Given the description of an element on the screen output the (x, y) to click on. 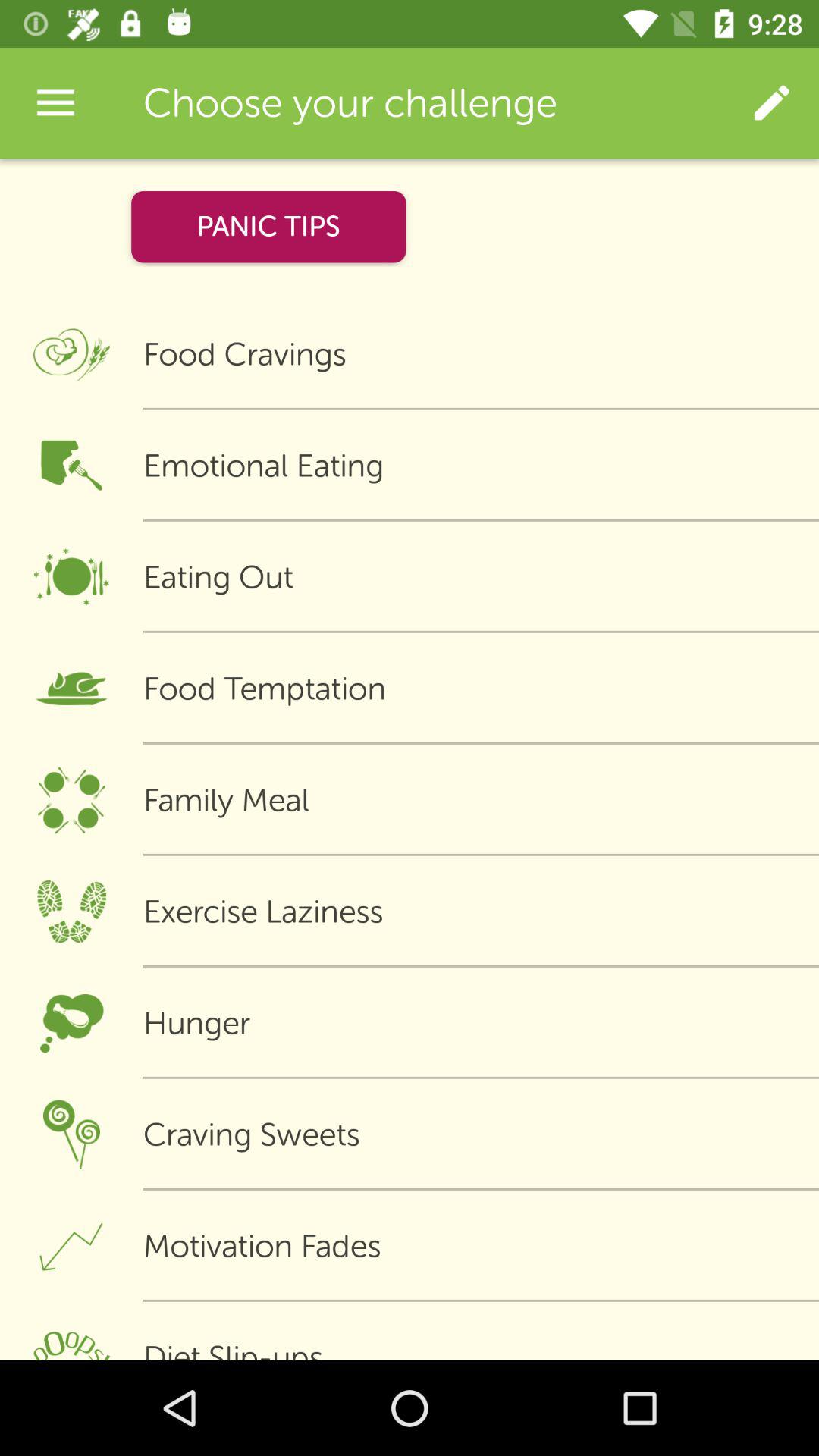
turn off icon next to the choose your challenge app (771, 103)
